Given the description of an element on the screen output the (x, y) to click on. 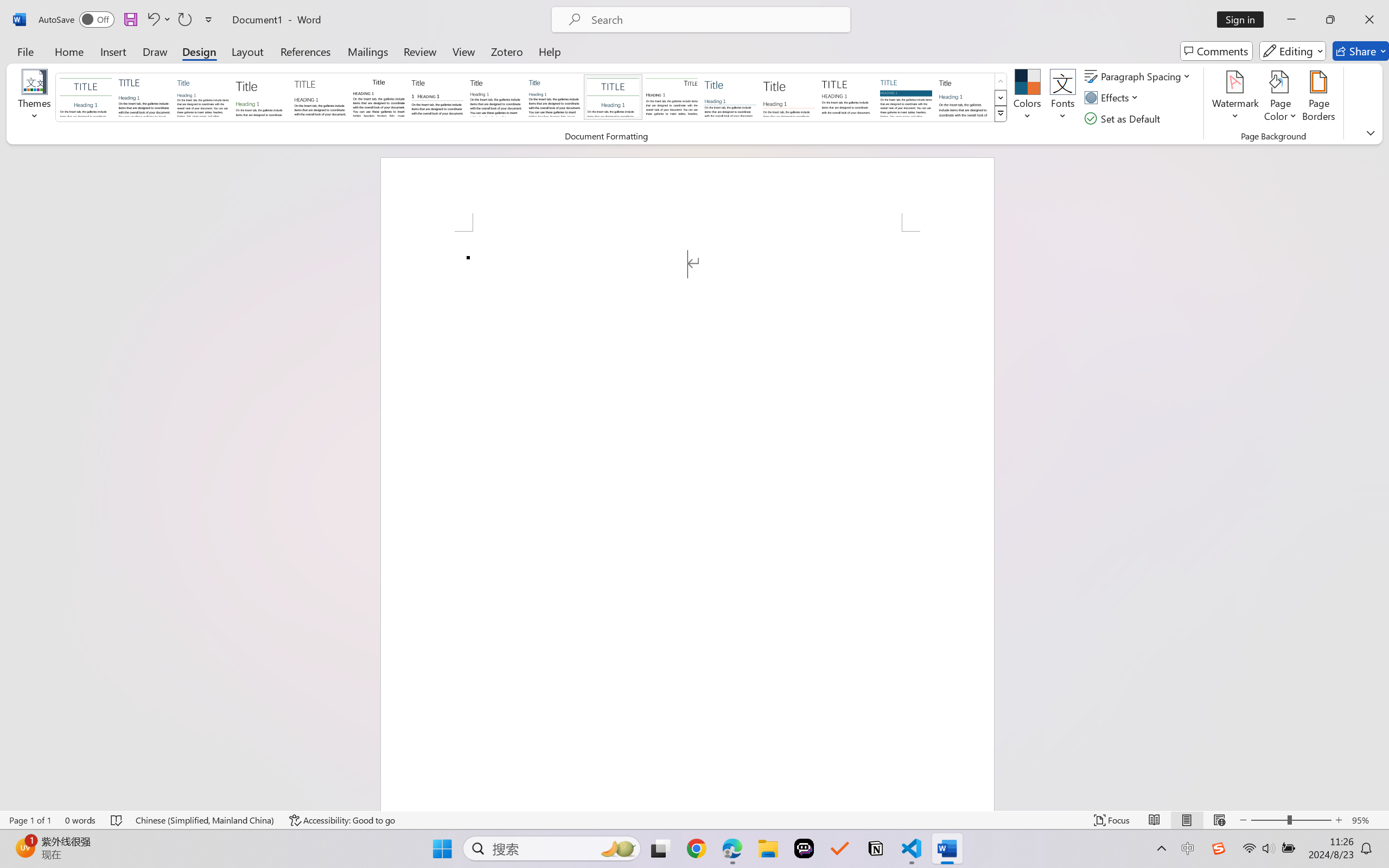
Lines (Stylish) (788, 96)
Style Set (1000, 113)
Basic (Stylish) (260, 96)
Repeat Style (184, 19)
Minimalist (847, 96)
Document (85, 96)
